Given the description of an element on the screen output the (x, y) to click on. 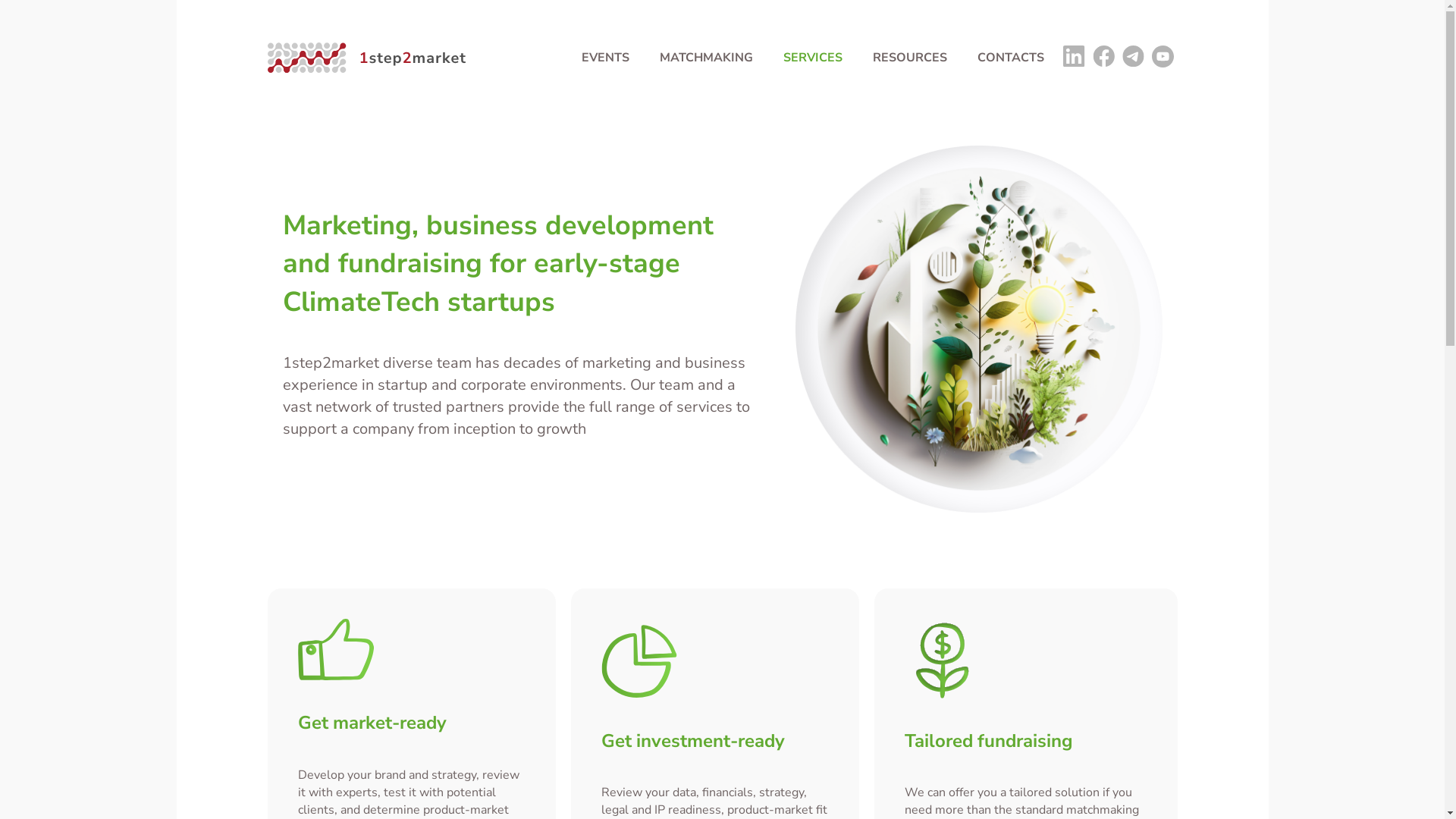
SERVICES Element type: text (811, 57)
CONTACTS Element type: text (1009, 57)
RESOURCES Element type: text (908, 57)
EVENTS Element type: text (604, 57)
MATCHMAKING Element type: text (706, 57)
